Given the description of an element on the screen output the (x, y) to click on. 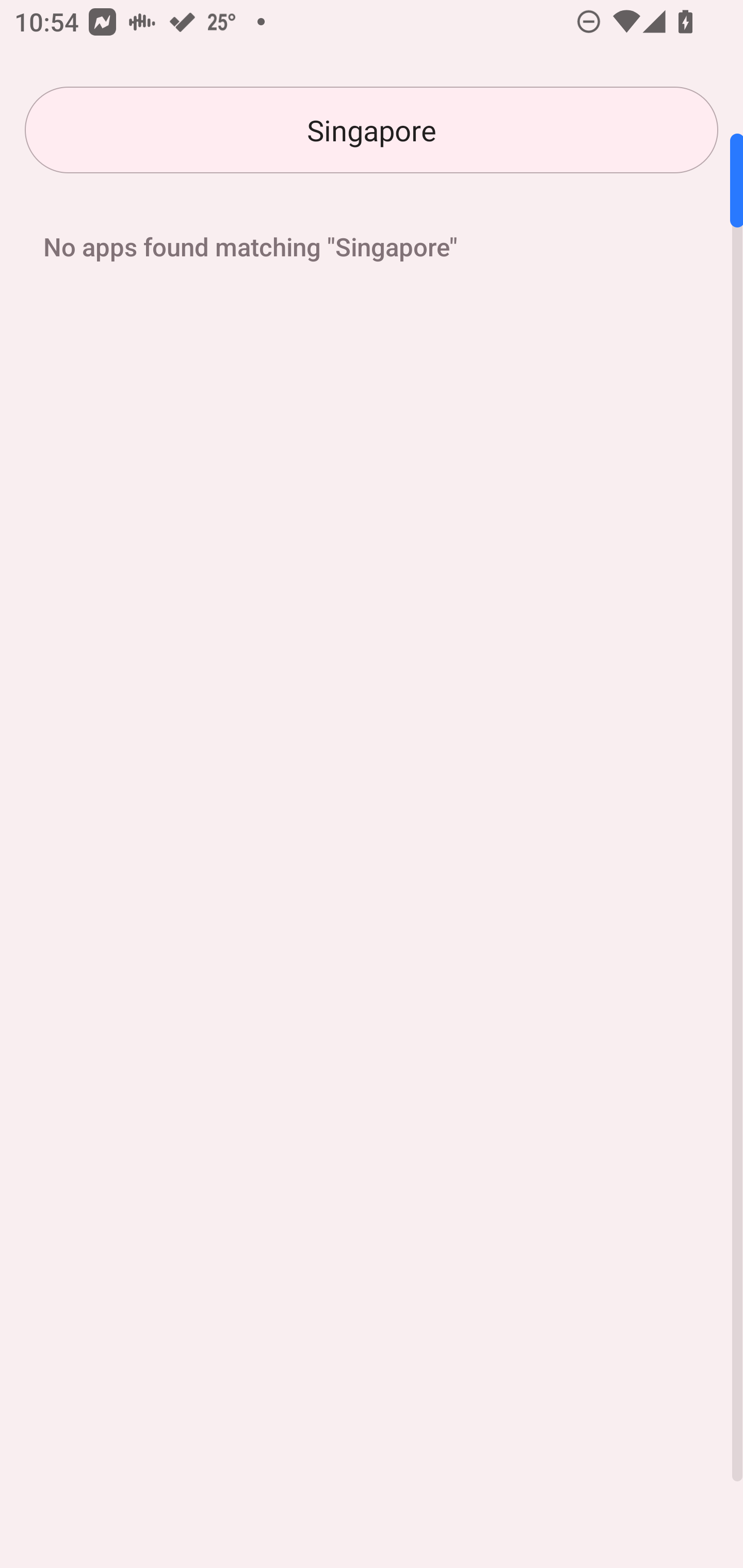
Singapore (371, 130)
